Given the description of an element on the screen output the (x, y) to click on. 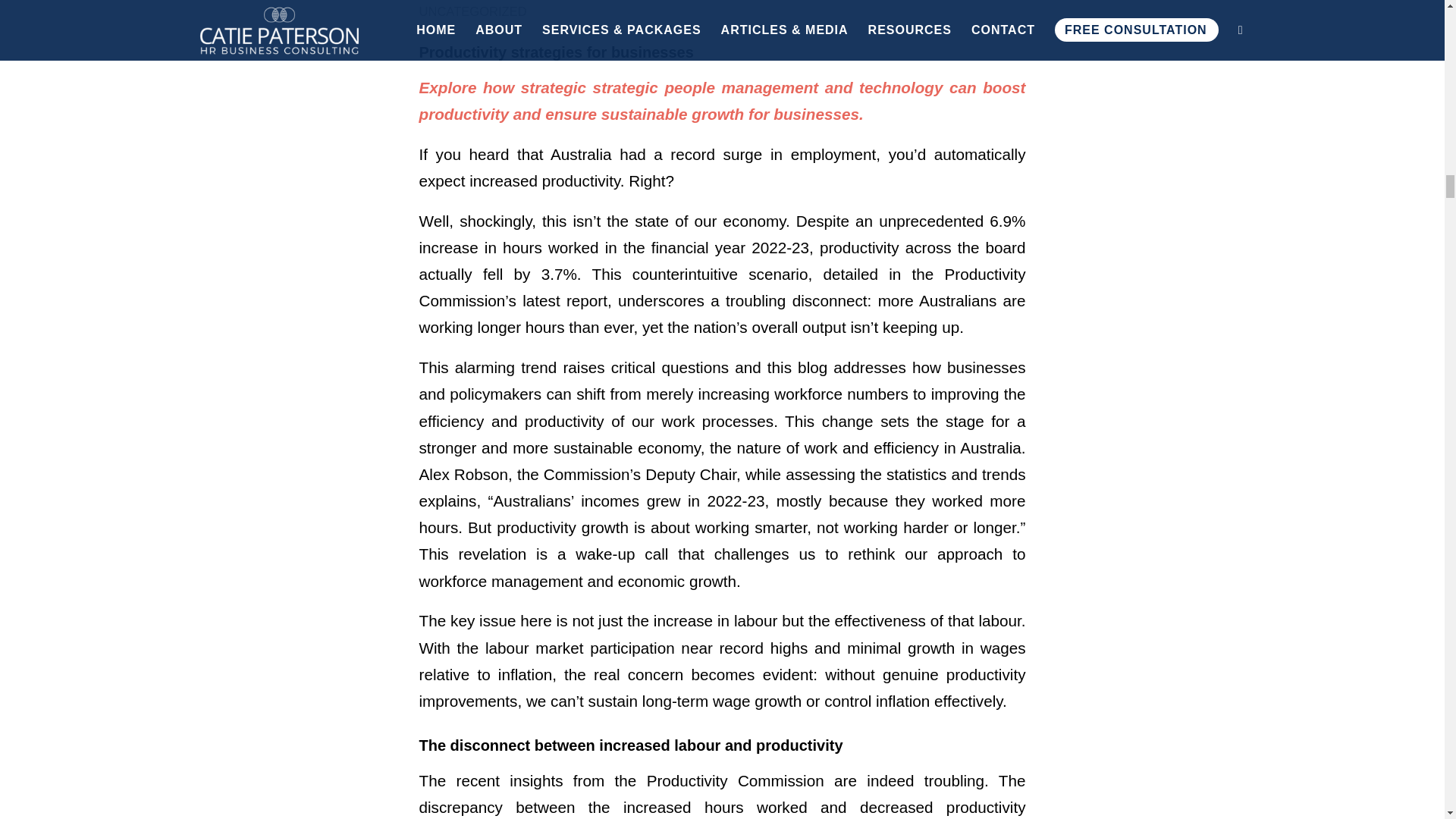
UNCATEGORIZED (472, 11)
